Given the description of an element on the screen output the (x, y) to click on. 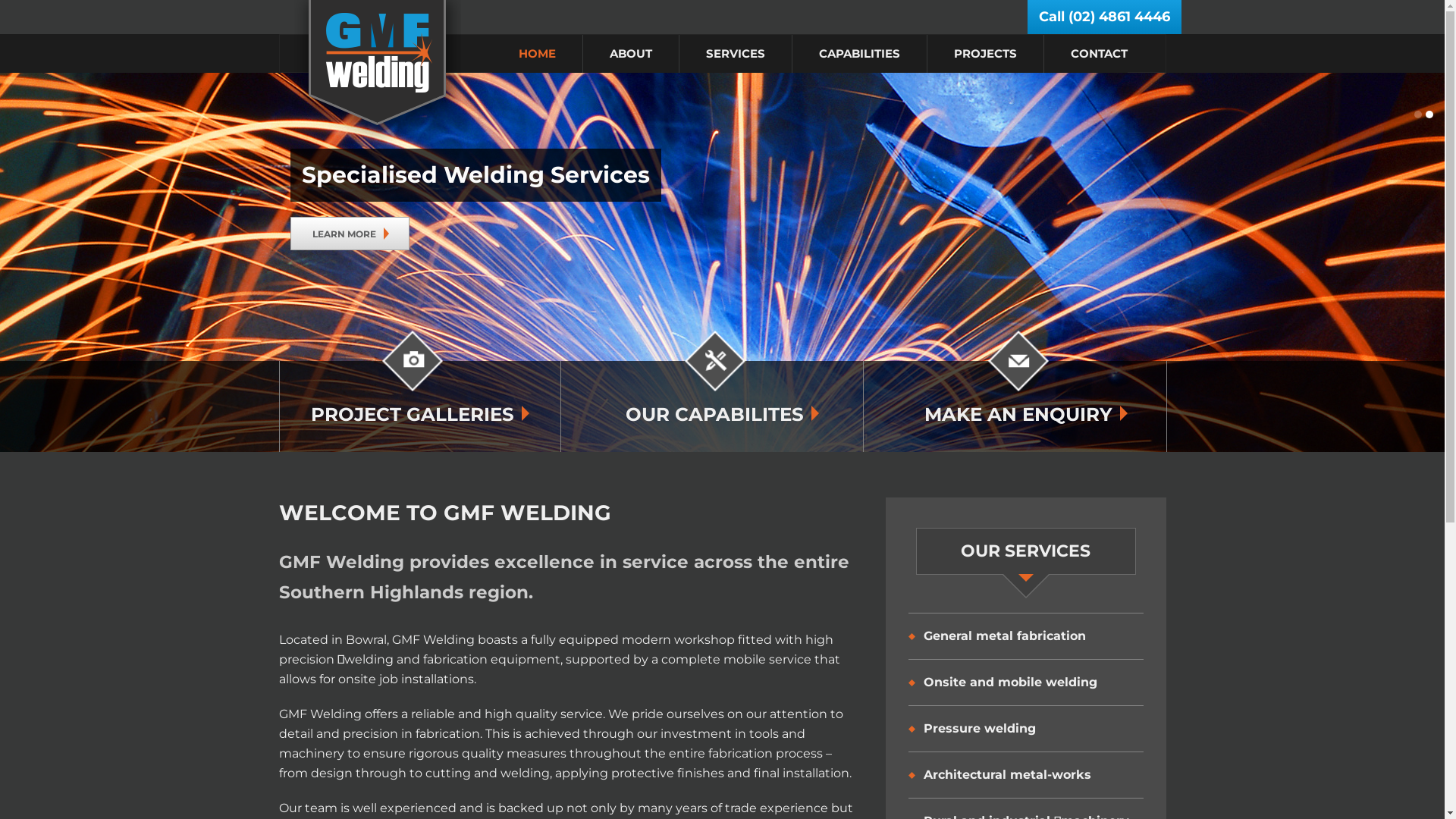
LEARN MORE Element type: text (732, 233)
CONTACT Element type: text (1085, 53)
HOME Element type: text (536, 53)
GMF Welding Element type: hover (377, 72)
SERVICES Element type: text (733, 53)
PROJECTS Element type: text (984, 53)
Call (02) 4861 4446 Element type: text (1103, 17)
CAPABILITIES Element type: text (858, 53)
ABOUT Element type: text (630, 53)
